Given the description of an element on the screen output the (x, y) to click on. 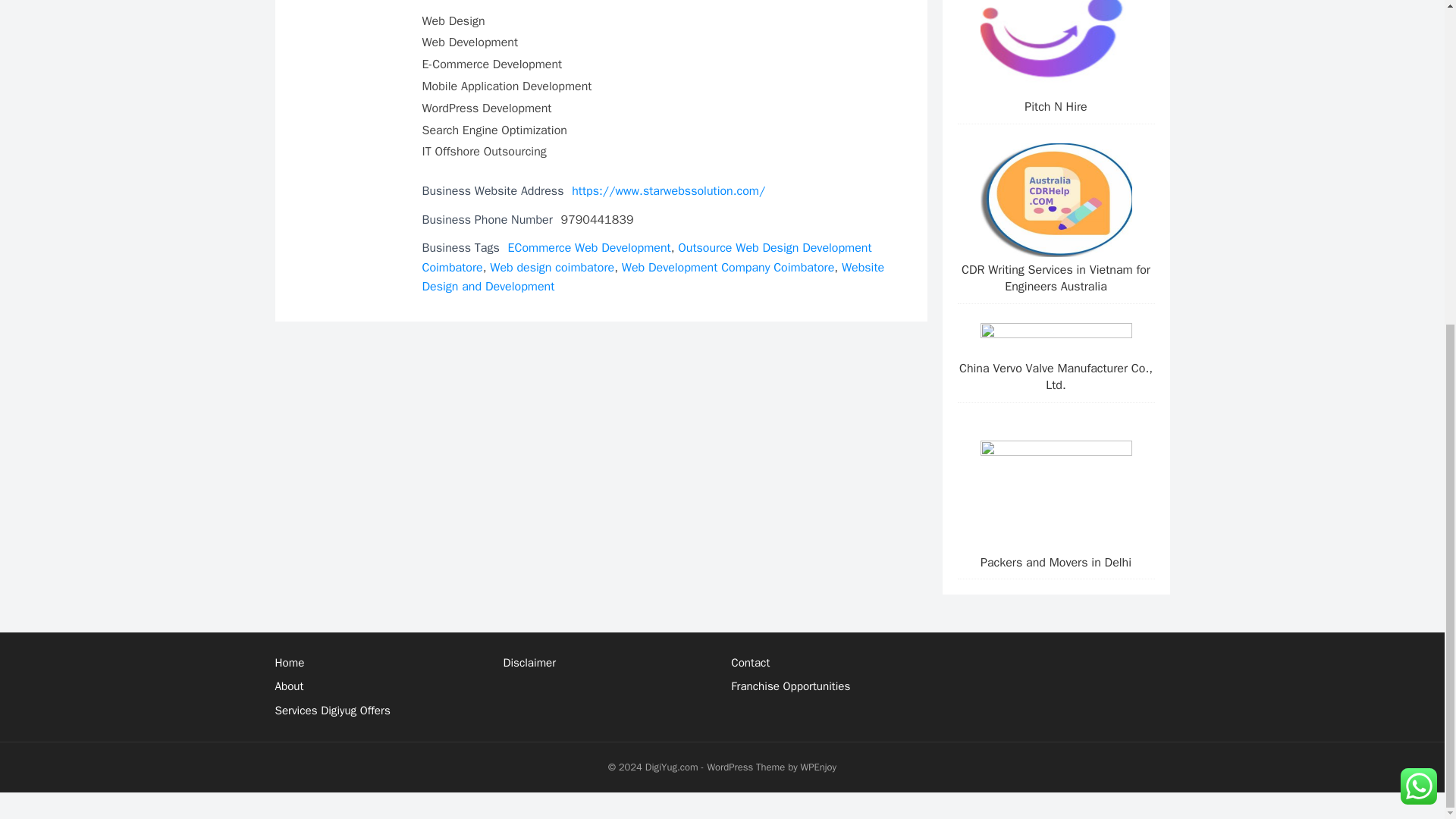
Web Development Company Coimbatore (727, 267)
Outsource Web Design Development Coimbatore (646, 257)
Web design coimbatore (551, 267)
Website Design and Development (652, 277)
ECommerce Web Development (589, 247)
